Given the description of an element on the screen output the (x, y) to click on. 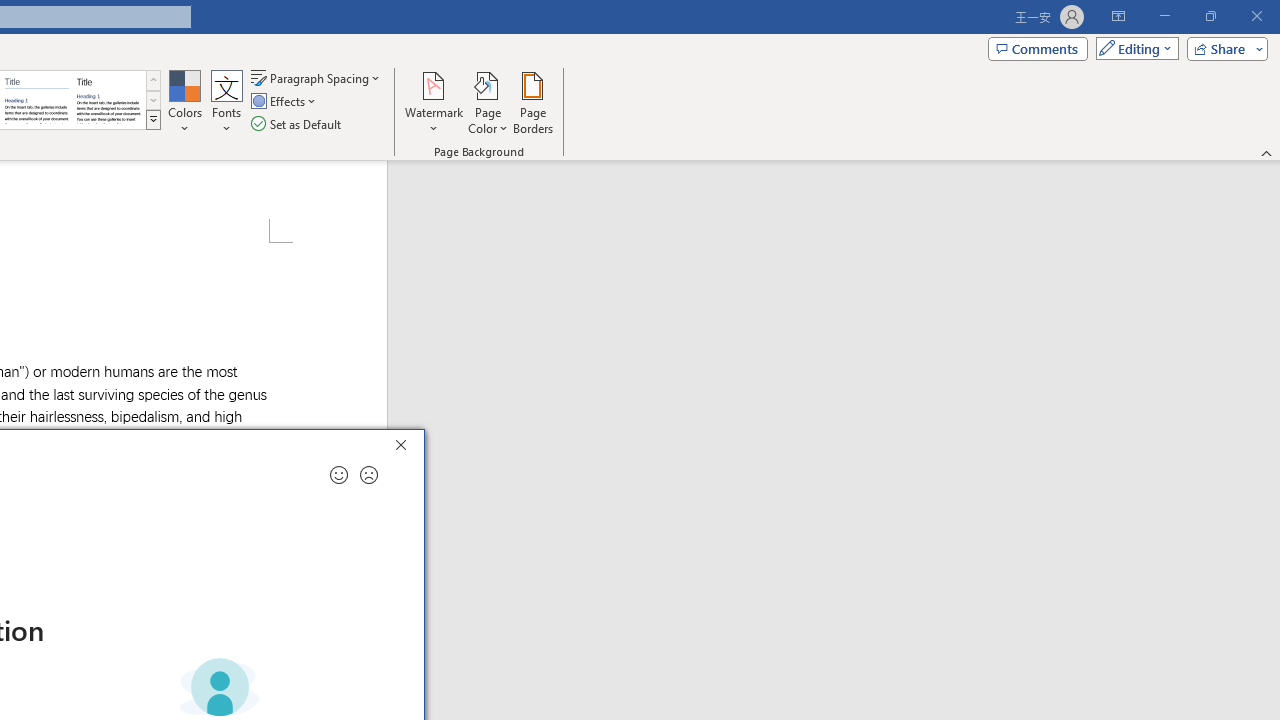
Effects (285, 101)
Send a smile for feedback (338, 475)
